Given the description of an element on the screen output the (x, y) to click on. 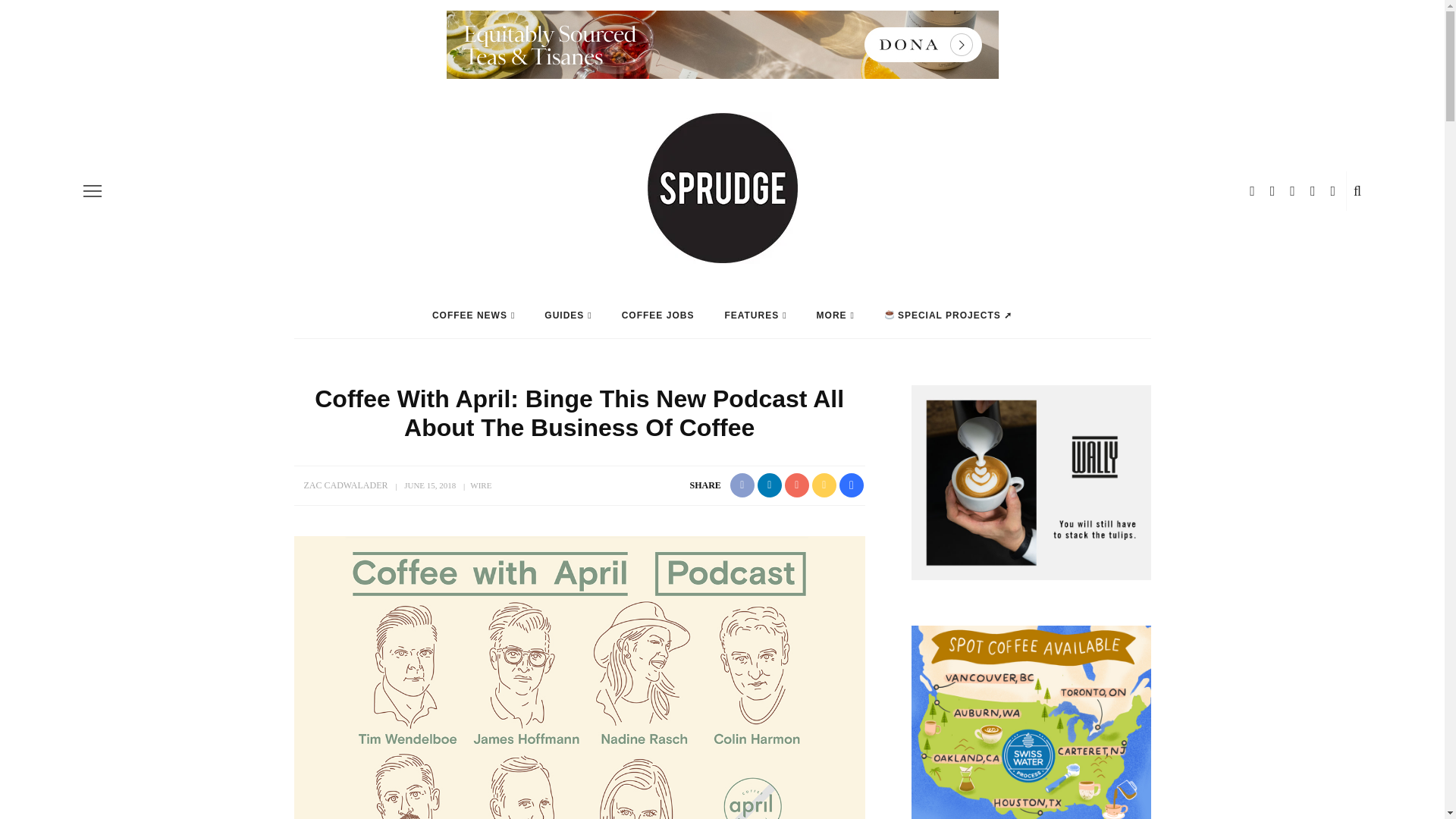
LinkedIn (1333, 191)
search (1356, 191)
X (1313, 191)
Facebook (1251, 191)
Instagram (1272, 191)
off canvas button (91, 190)
Rss (1292, 191)
